Given the description of an element on the screen output the (x, y) to click on. 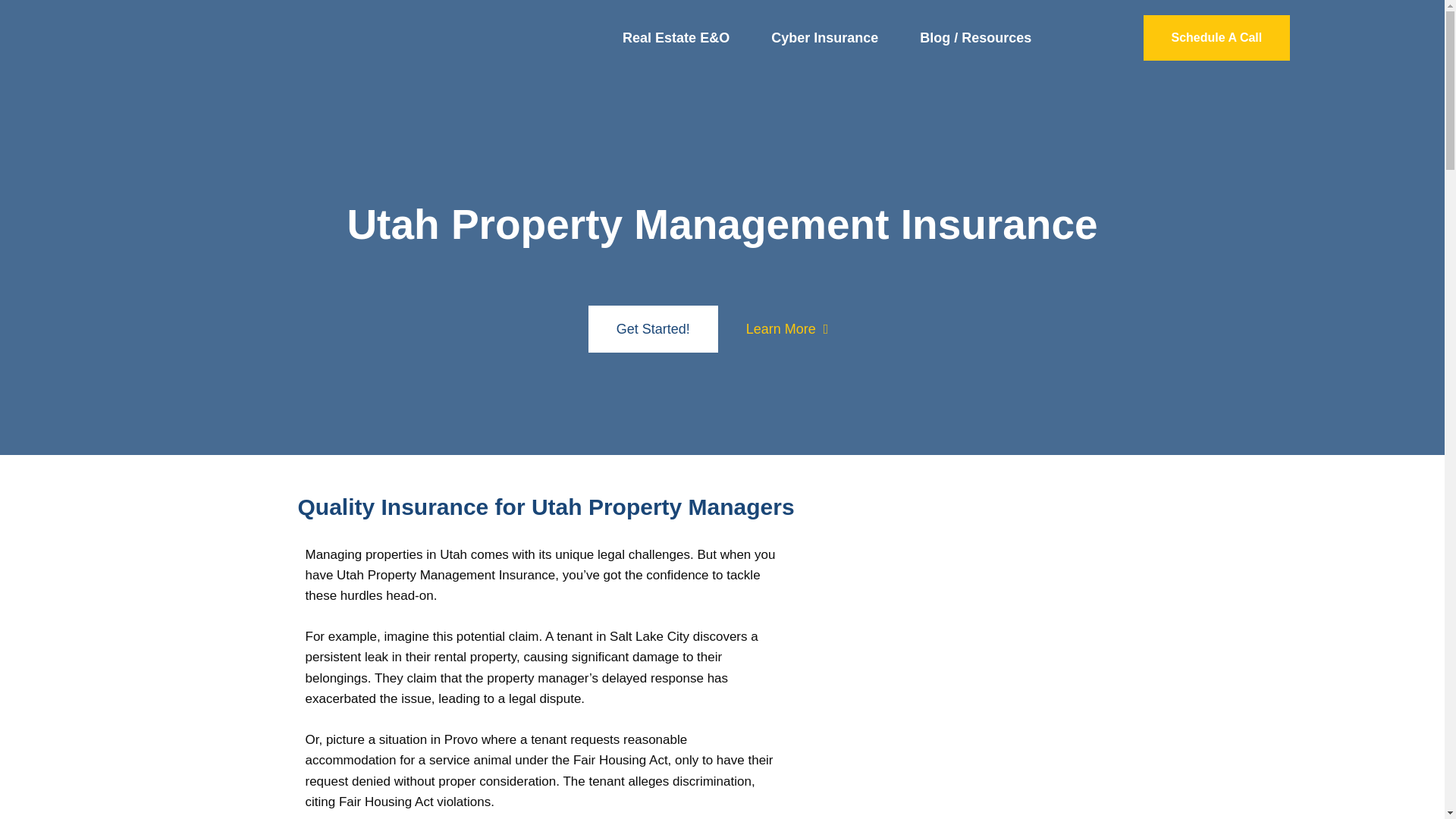
Cyber Insurance (824, 37)
Schedule A Call (1216, 37)
Learn More (787, 328)
Get Started! (652, 328)
